Given the description of an element on the screen output the (x, y) to click on. 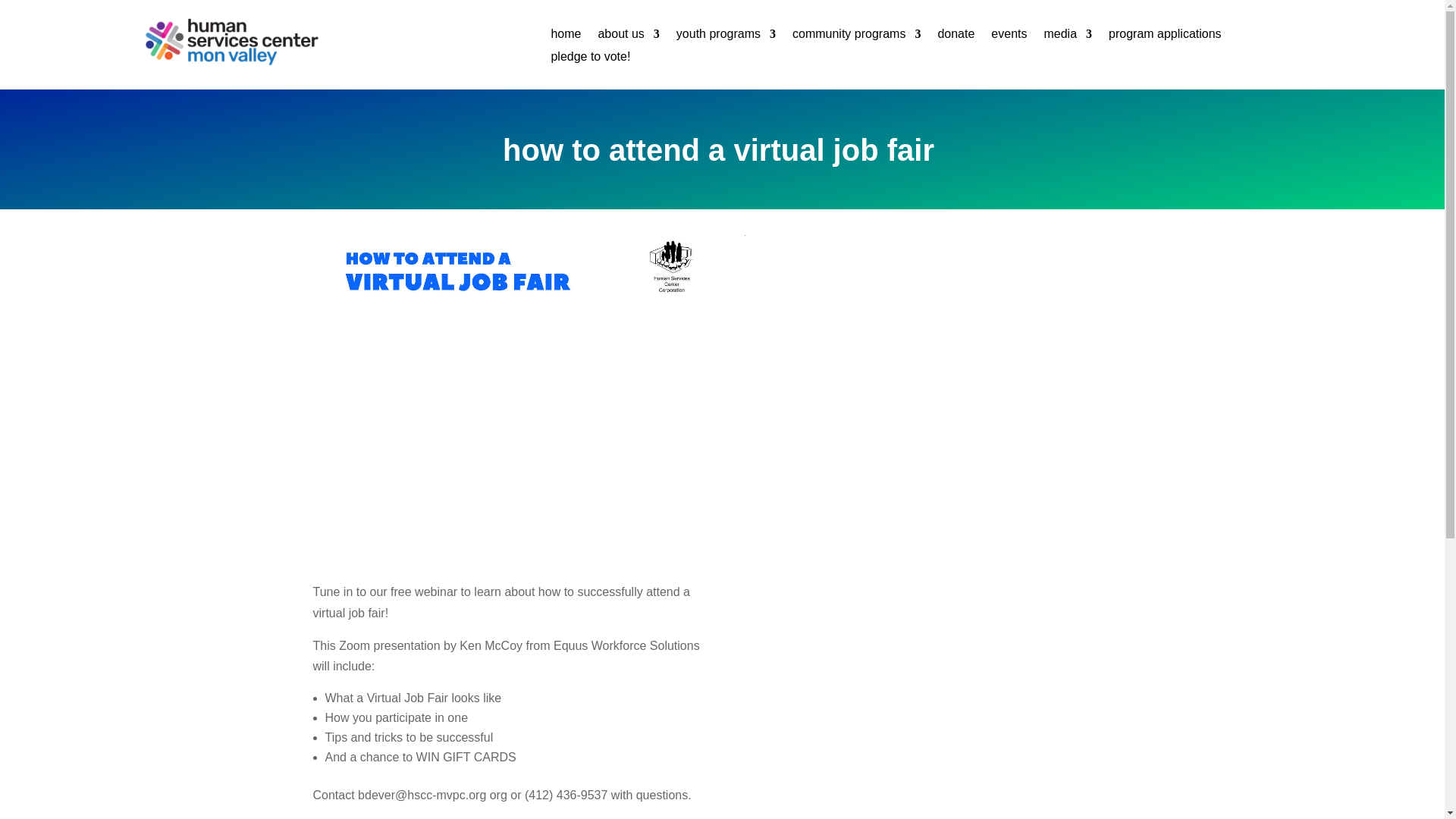
youth programs (726, 36)
pledge to vote! (590, 59)
events (1008, 36)
media (1067, 36)
HSCC Logo Horizontal (231, 41)
donate (955, 36)
community programs (856, 36)
program applications (1164, 36)
home (565, 36)
about us (627, 36)
